Given the description of an element on the screen output the (x, y) to click on. 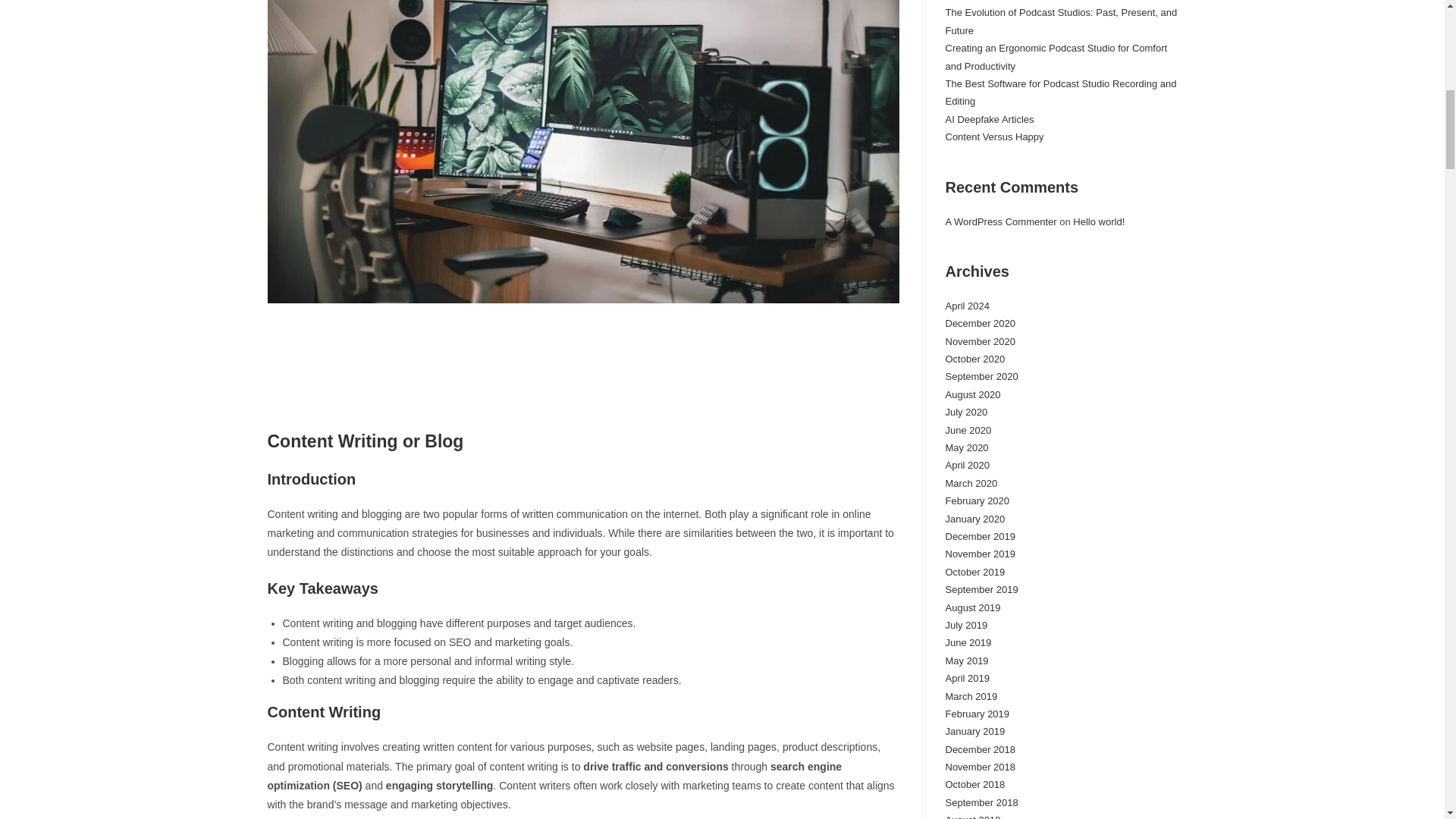
December 2020 (979, 323)
August 2020 (972, 394)
September 2020 (980, 376)
April 2024 (967, 306)
May 2020 (966, 447)
November 2019 (979, 553)
September 2019 (980, 589)
The Best Software for Podcast Studio Recording and Editing (1060, 92)
AI Deepfake Articles (988, 119)
October 2019 (974, 572)
